Given the description of an element on the screen output the (x, y) to click on. 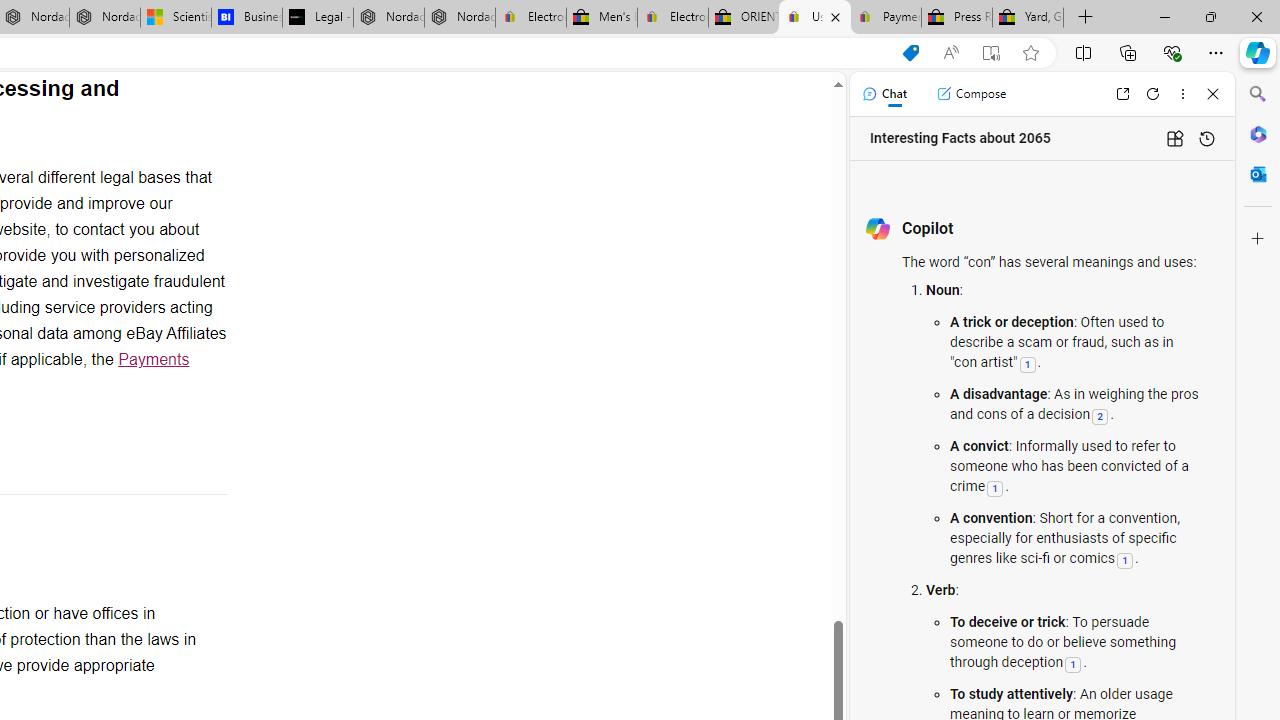
Electronics, Cars, Fashion, Collectibles & More | eBay (672, 17)
Open link in new tab (1122, 93)
Compose (971, 93)
User Privacy Notice | eBay (814, 17)
Yard, Garden & Outdoor Living (1028, 17)
